Given the description of an element on the screen output the (x, y) to click on. 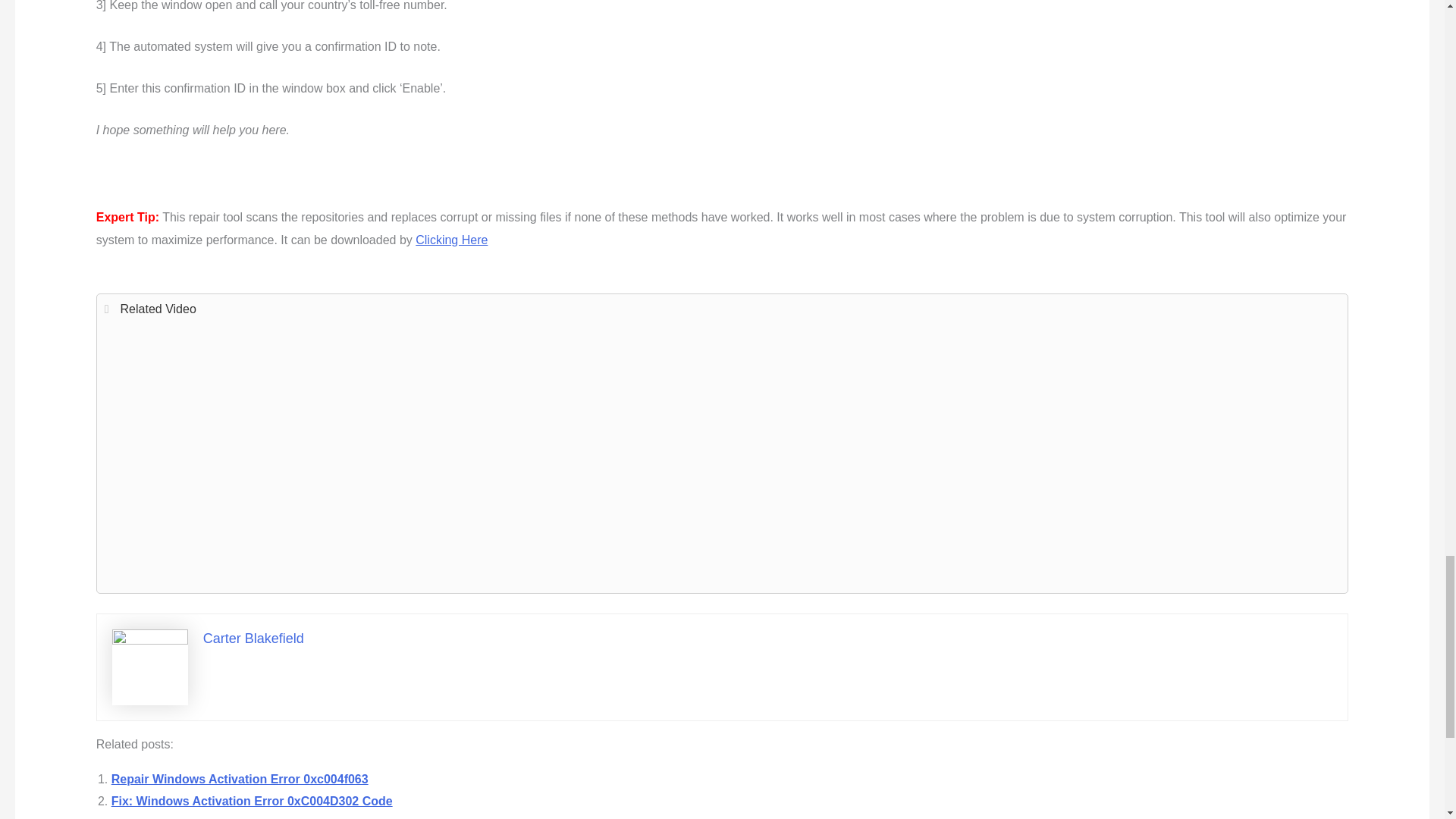
Clicking Here (450, 239)
Fix: Windows Activation Error 0xC004D302 Code (252, 800)
Fix: Windows Activation Error 0xC004D302 Code (252, 800)
Carter Blakefield (253, 638)
Repair Windows Activation Error 0xc004f063 (240, 779)
Repair Windows Activation Error 0xc004f063 (240, 779)
